Given the description of an element on the screen output the (x, y) to click on. 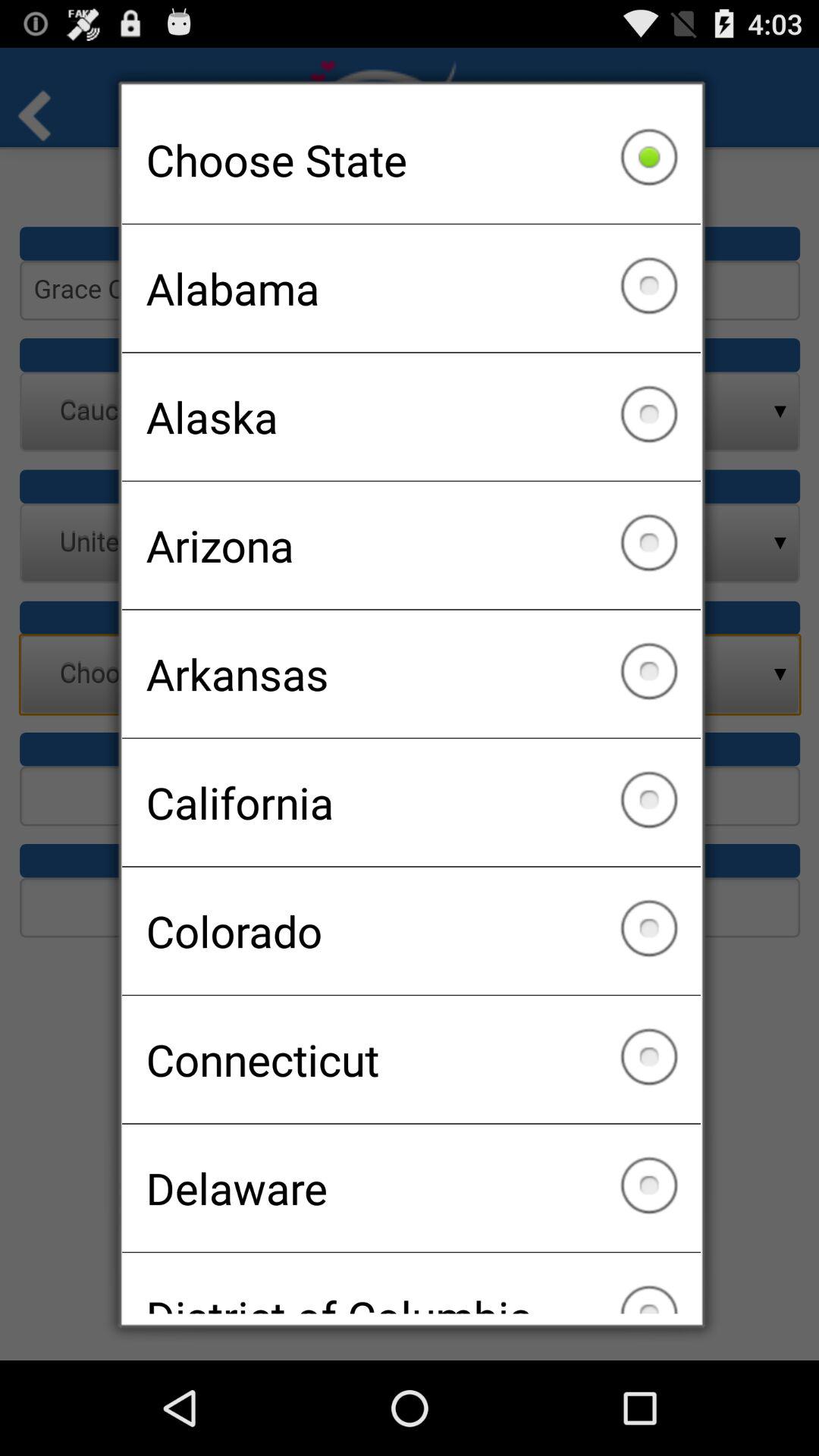
open the item above arkansas checkbox (411, 545)
